Given the description of an element on the screen output the (x, y) to click on. 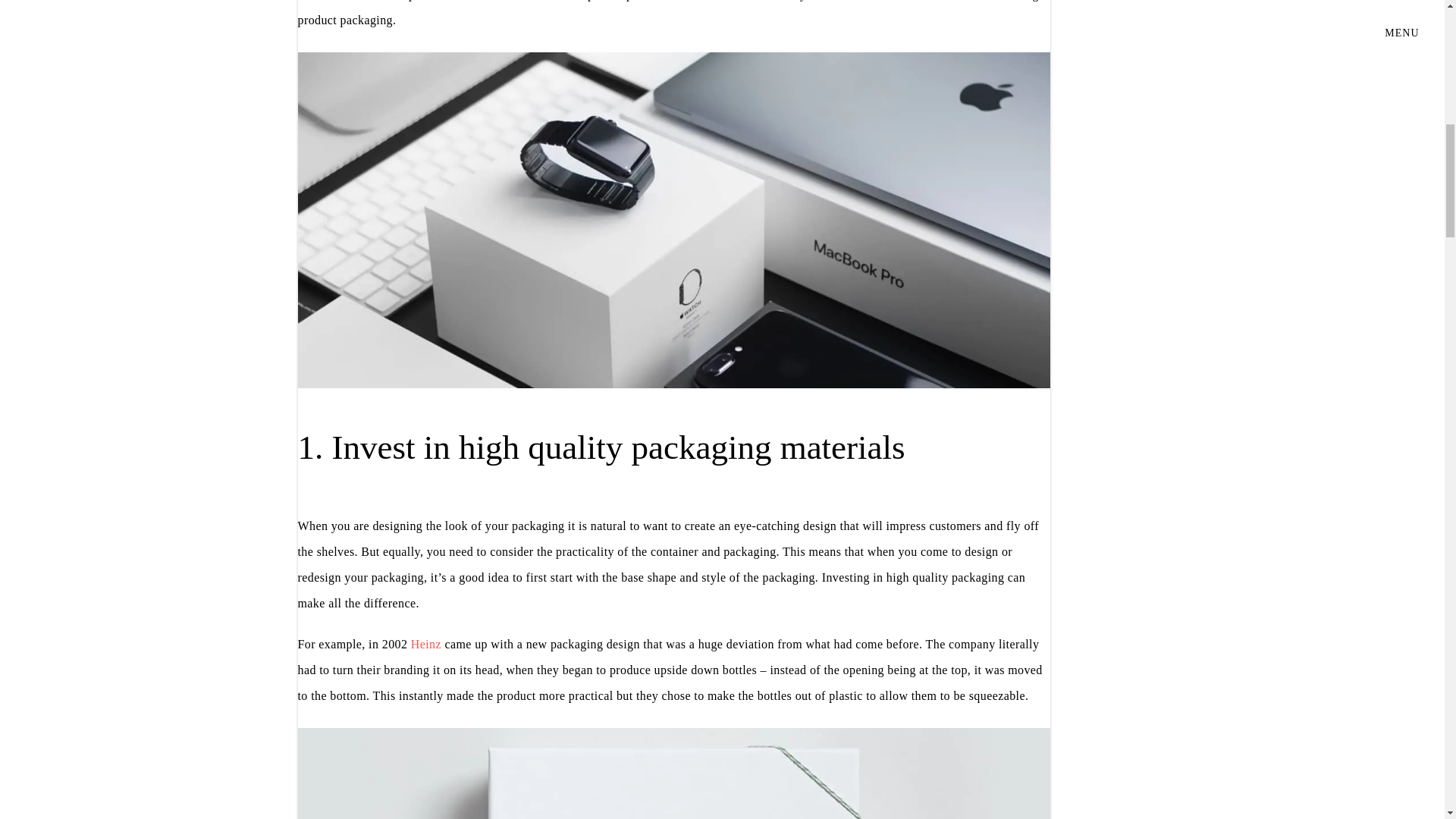
Heinz (425, 644)
